Given the description of an element on the screen output the (x, y) to click on. 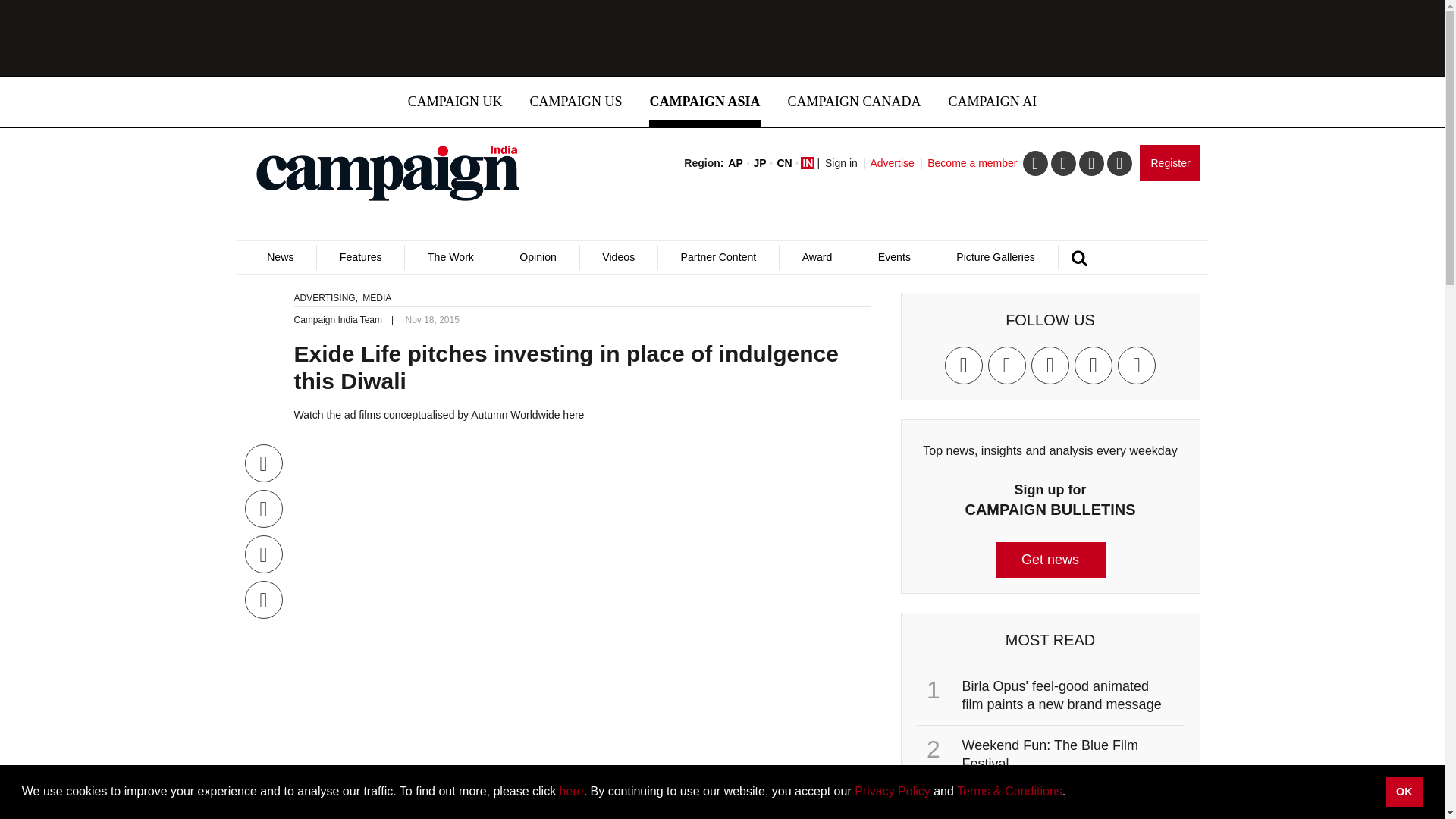
Partner Content (718, 257)
The Work (450, 257)
Advertise (891, 162)
Privacy Policy (892, 790)
Become a member (971, 162)
Features (359, 257)
AP (735, 162)
The Work (450, 257)
CAMPAIGN UK (455, 101)
Picture Galleries (995, 257)
IN (806, 162)
Opinion (537, 257)
News (279, 257)
CN (783, 162)
OK (1404, 791)
